Given the description of an element on the screen output the (x, y) to click on. 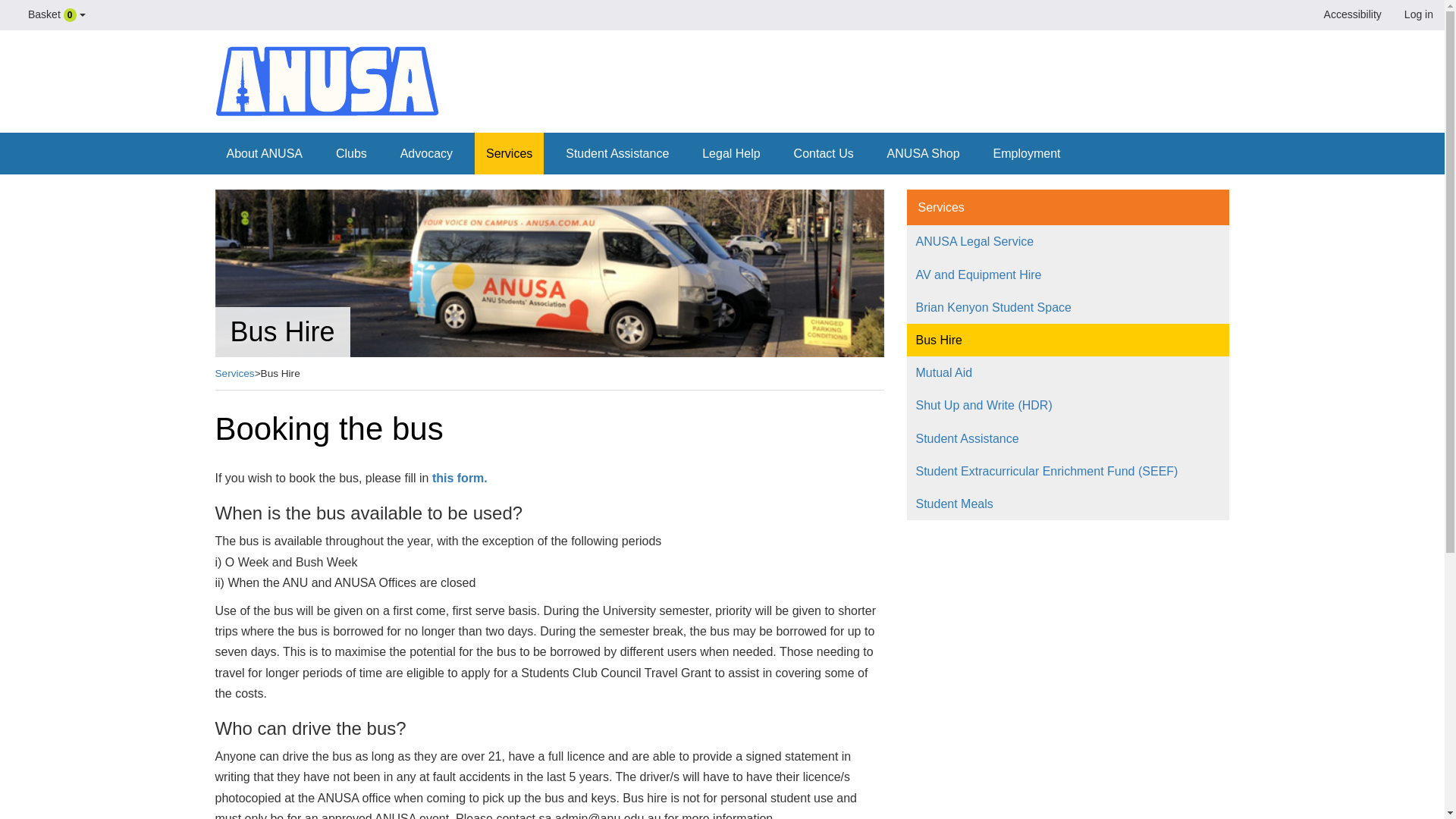
Services (508, 153)
Basket 0 (54, 15)
Clubs (351, 153)
About ANUSA (264, 153)
Accessibility (1350, 14)
Advocacy (426, 153)
